Given the description of an element on the screen output the (x, y) to click on. 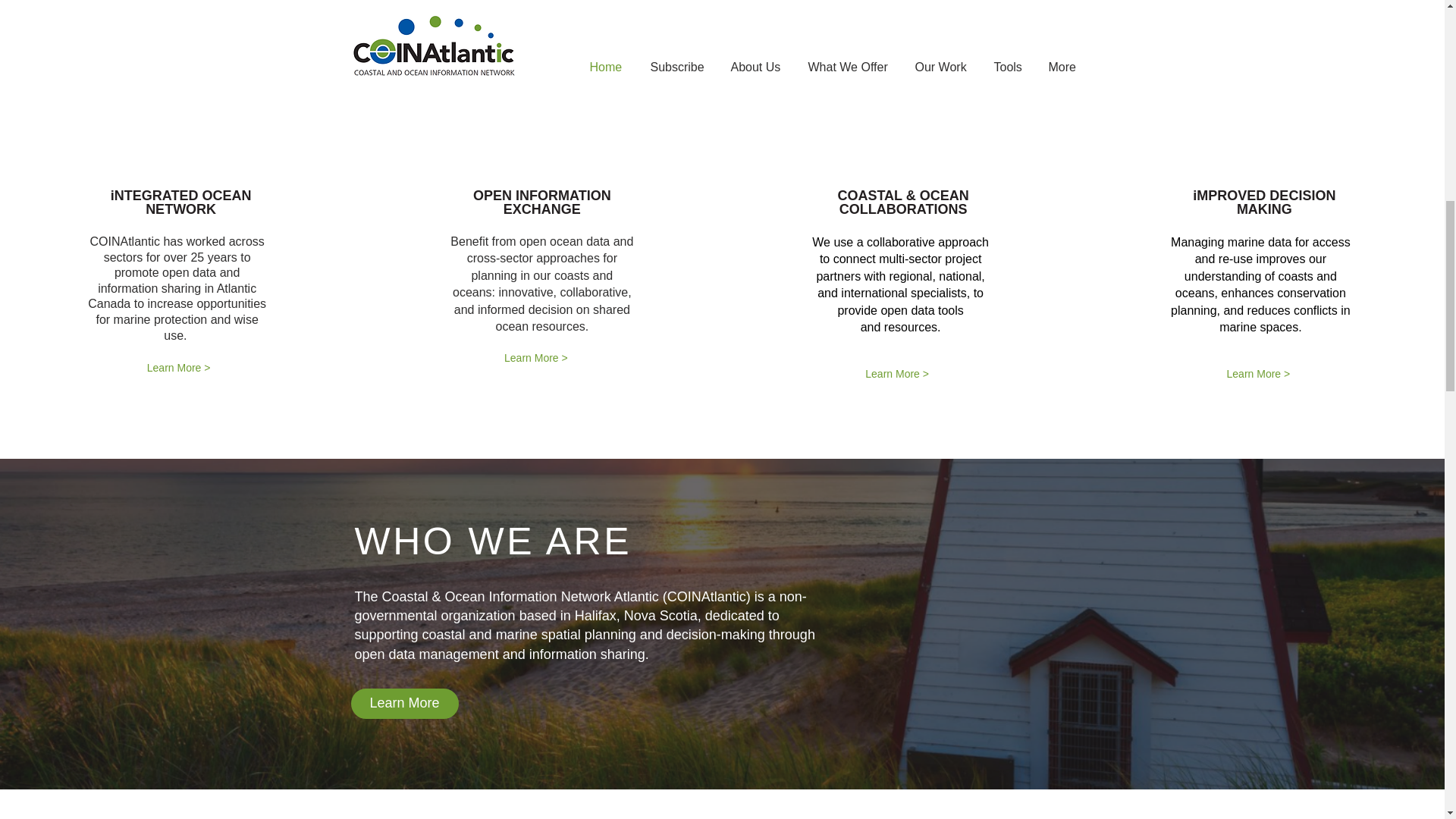
Learn More (404, 703)
